Given the description of an element on the screen output the (x, y) to click on. 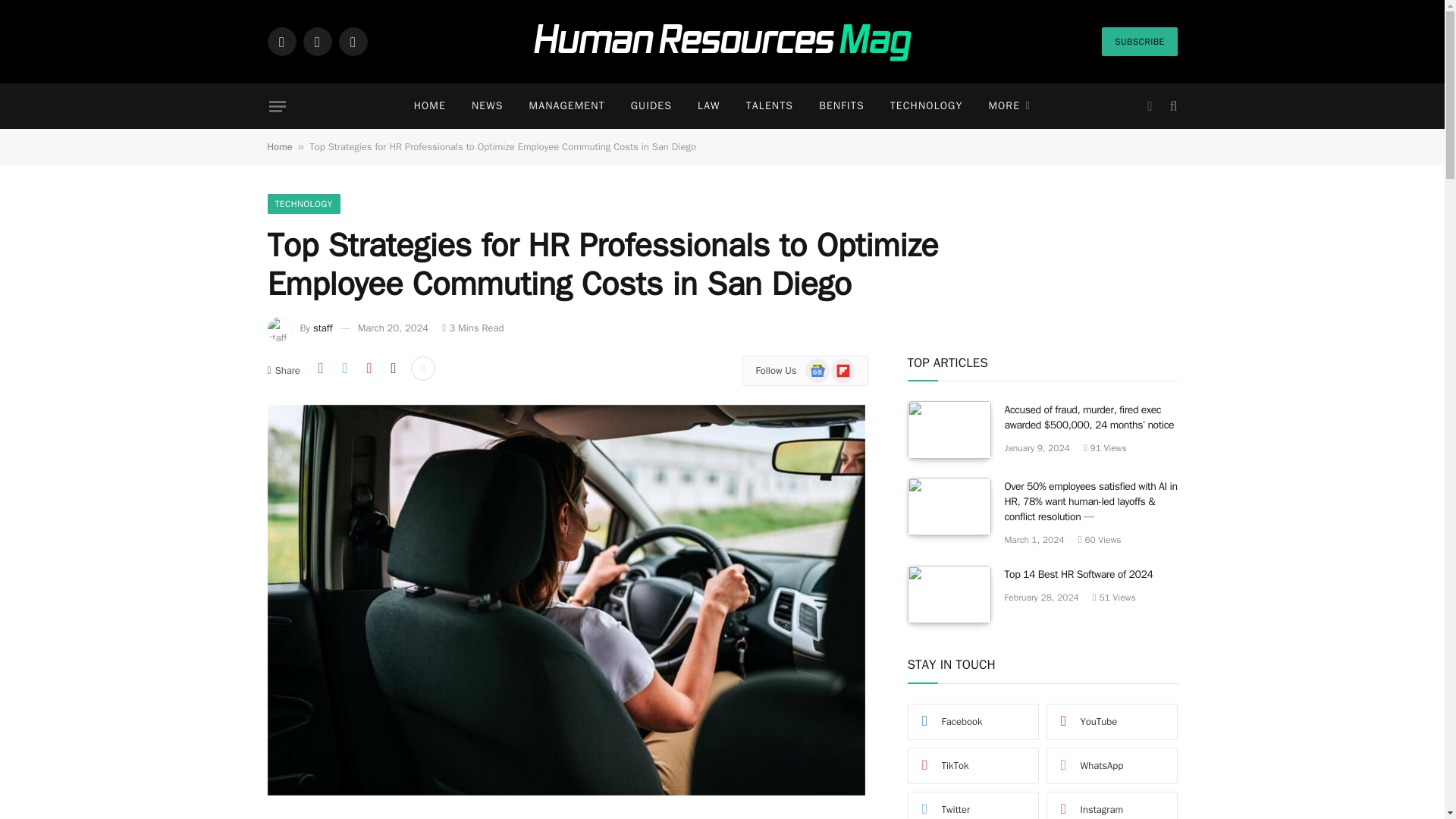
TALENTS (769, 105)
SUBSCRIBE (1139, 41)
NEWS (487, 105)
Share on Facebook (319, 368)
TECHNOLOGY (926, 105)
Instagram (351, 41)
Facebook (280, 41)
Posts by staff (323, 327)
Switch to Dark Design - easier on eyes. (1149, 106)
MANAGEMENT (566, 105)
MORE (1009, 105)
BENFITS (841, 105)
Human Resources Mag (721, 41)
GUIDES (650, 105)
HOME (429, 105)
